Given the description of an element on the screen output the (x, y) to click on. 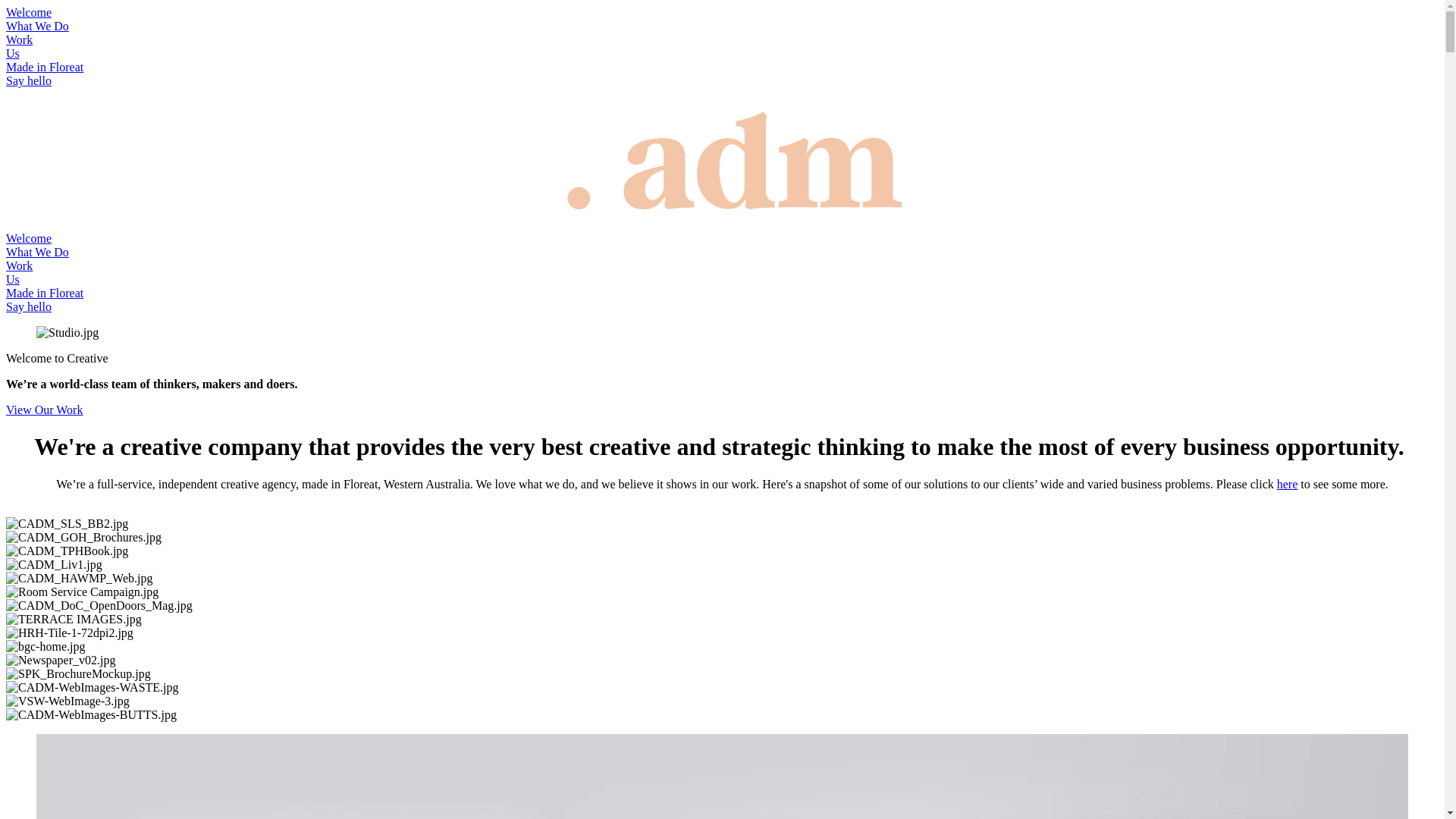
Us Element type: text (12, 53)
here Element type: text (1287, 483)
Made in Floreat Element type: text (44, 66)
Welcome Element type: text (28, 238)
Say hello Element type: text (28, 80)
View Our Work Element type: text (44, 409)
What We Do Element type: text (37, 25)
Welcome Element type: text (28, 12)
Say hello Element type: text (28, 306)
Us Element type: text (12, 279)
Work Element type: text (19, 39)
What We Do Element type: text (37, 251)
Work Element type: text (19, 265)
Made in Floreat Element type: text (44, 292)
